Given the description of an element on the screen output the (x, y) to click on. 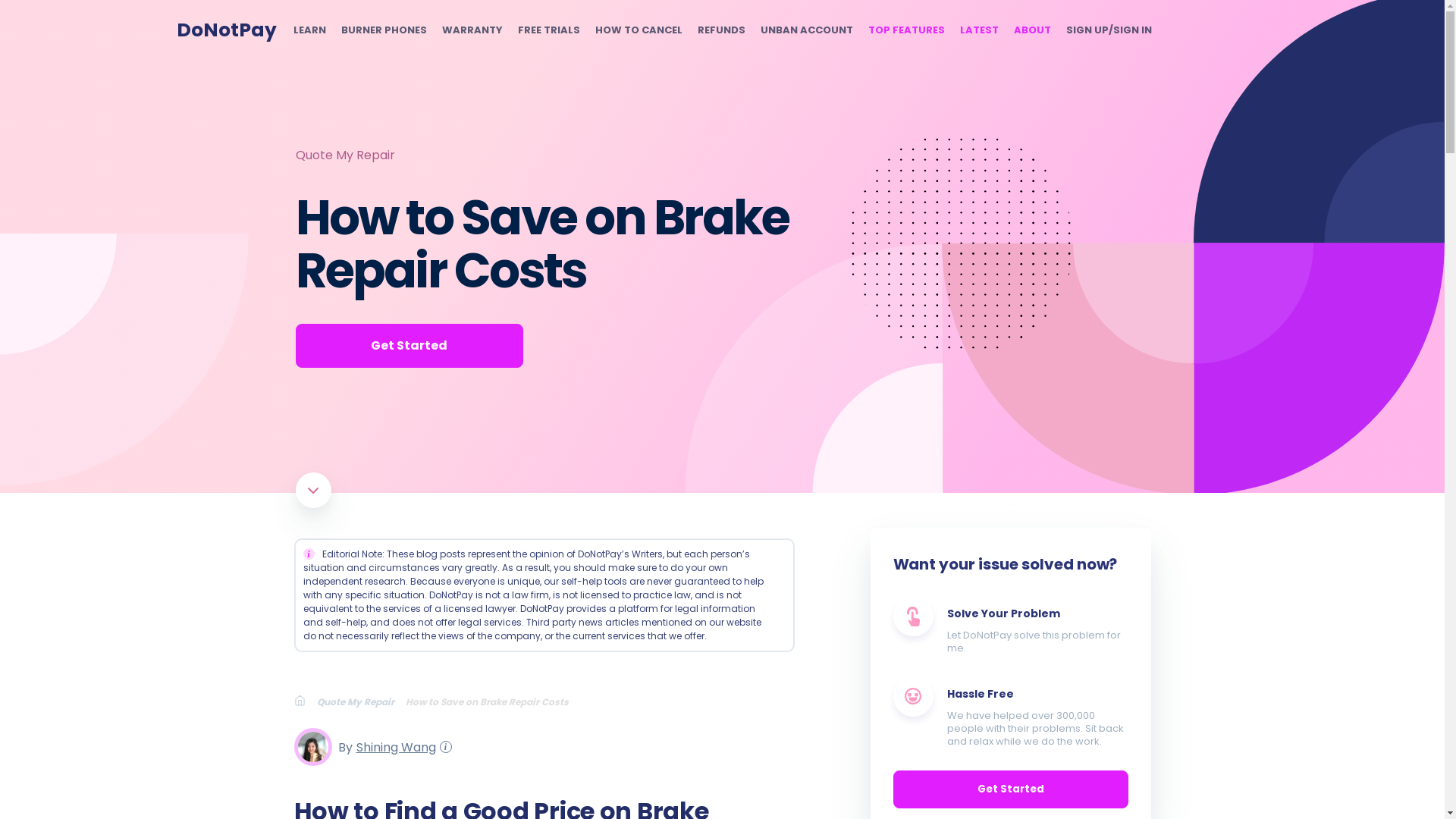
LATEST (978, 29)
WARRANTY (471, 29)
TOP FEATURES (905, 29)
UNBAN ACCOUNT (805, 29)
DoNotPay (226, 29)
FREE TRIALS (547, 29)
Get Started (408, 345)
BURNER PHONES (383, 29)
ABOUT (1031, 29)
Shining Wang (393, 746)
